Given the description of an element on the screen output the (x, y) to click on. 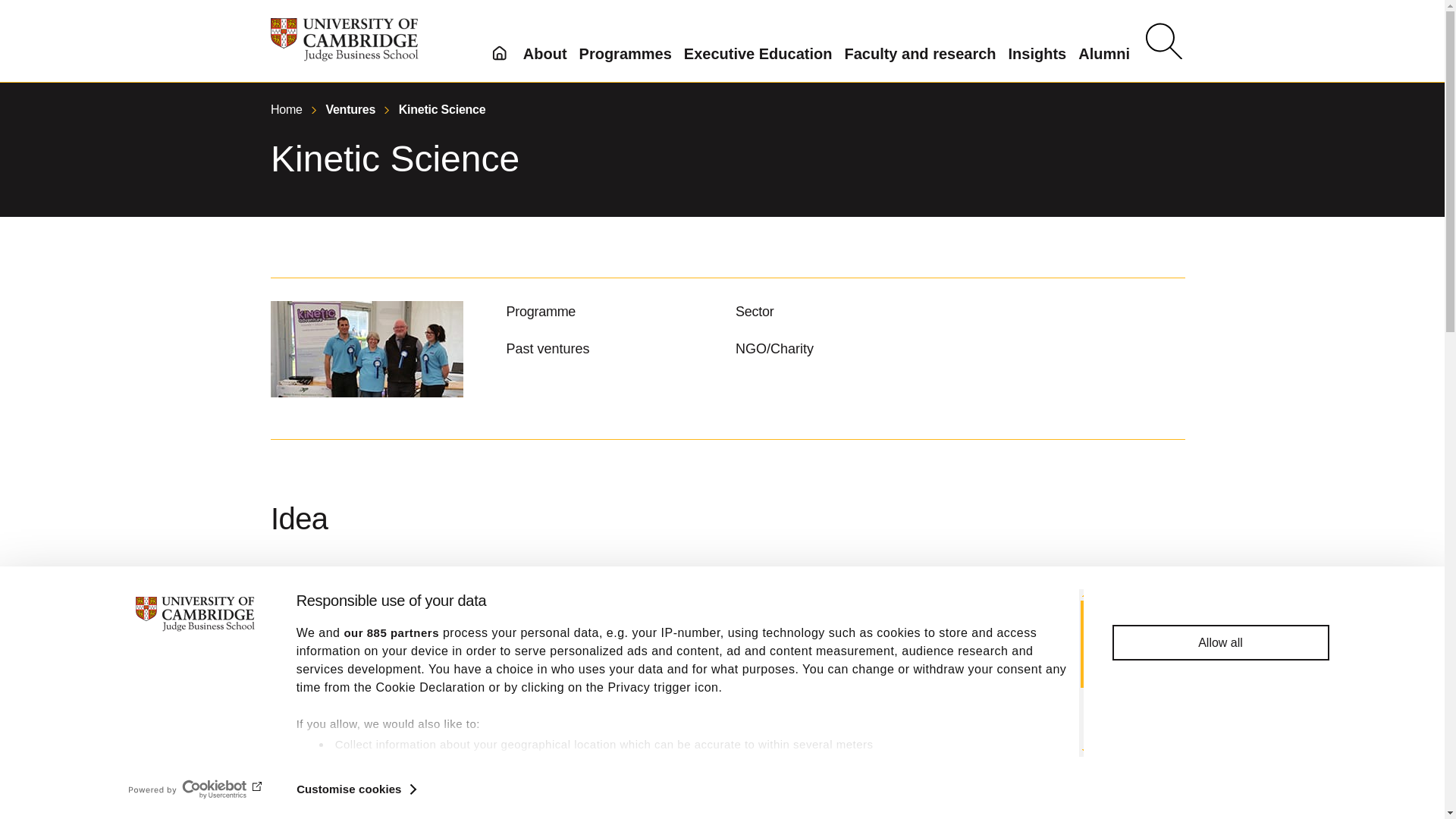
details section (855, 783)
Customise cookies (355, 789)
our 885 partners (391, 632)
